Given the description of an element on the screen output the (x, y) to click on. 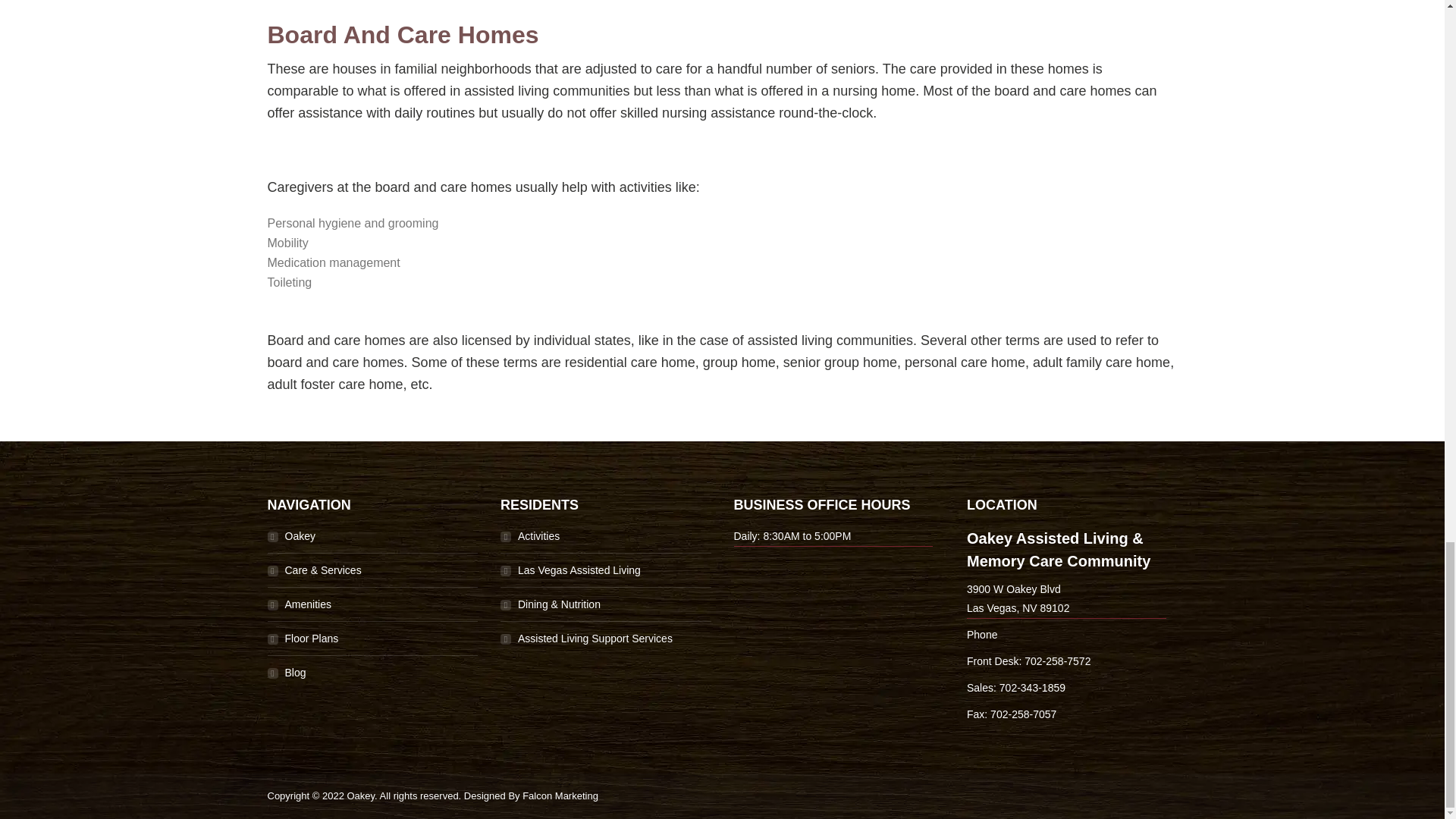
Floor Plans (301, 638)
Activities (529, 535)
Amenities (298, 603)
Blog (285, 671)
Oakey (290, 535)
